Given the description of an element on the screen output the (x, y) to click on. 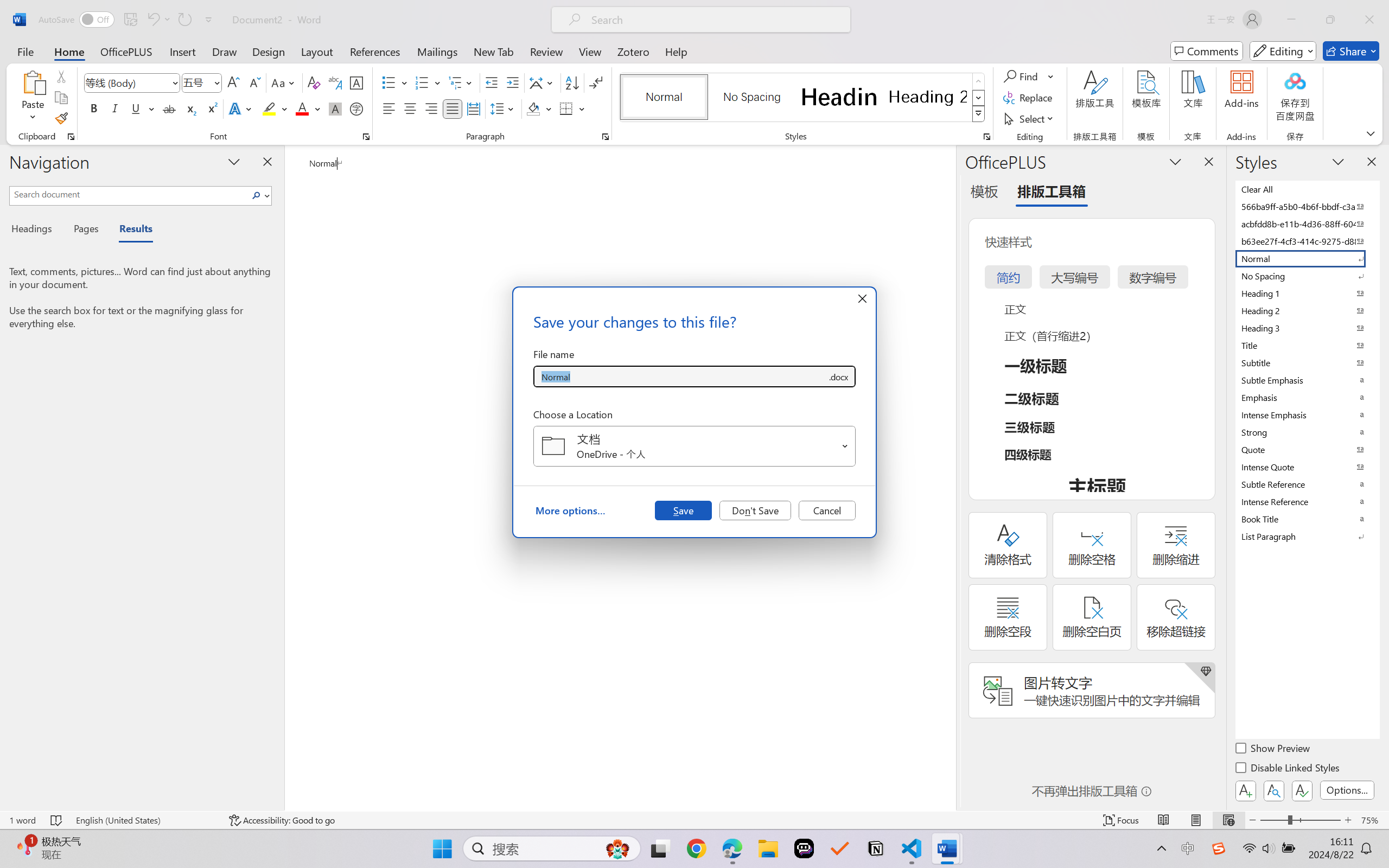
Emphasis (1306, 397)
Design (268, 51)
Insert (182, 51)
Shrink Font (253, 82)
Align Right (431, 108)
Ribbon Display Options (1370, 132)
Justify (452, 108)
